Given the description of an element on the screen output the (x, y) to click on. 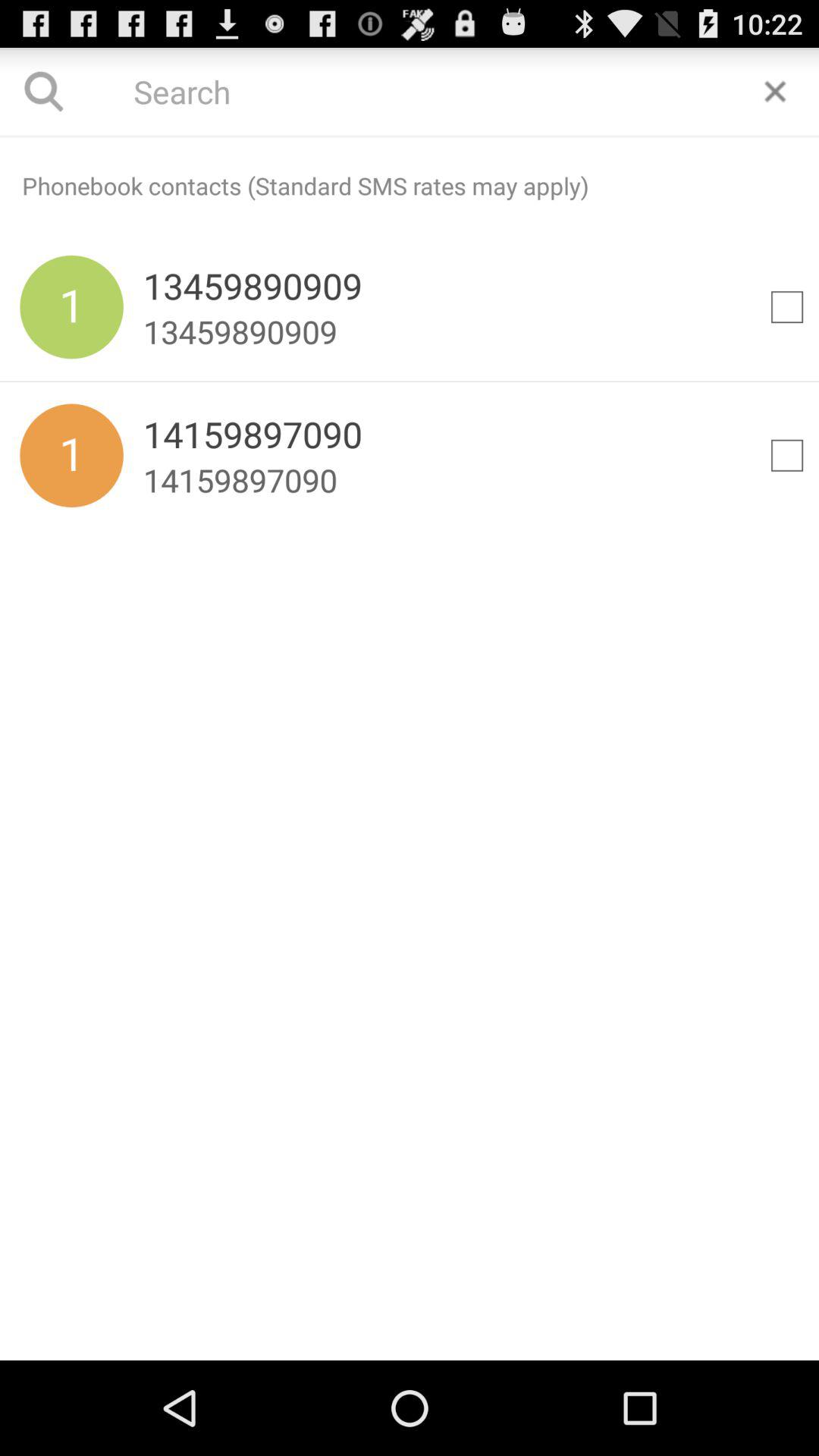
input query (409, 91)
